Given the description of an element on the screen output the (x, y) to click on. 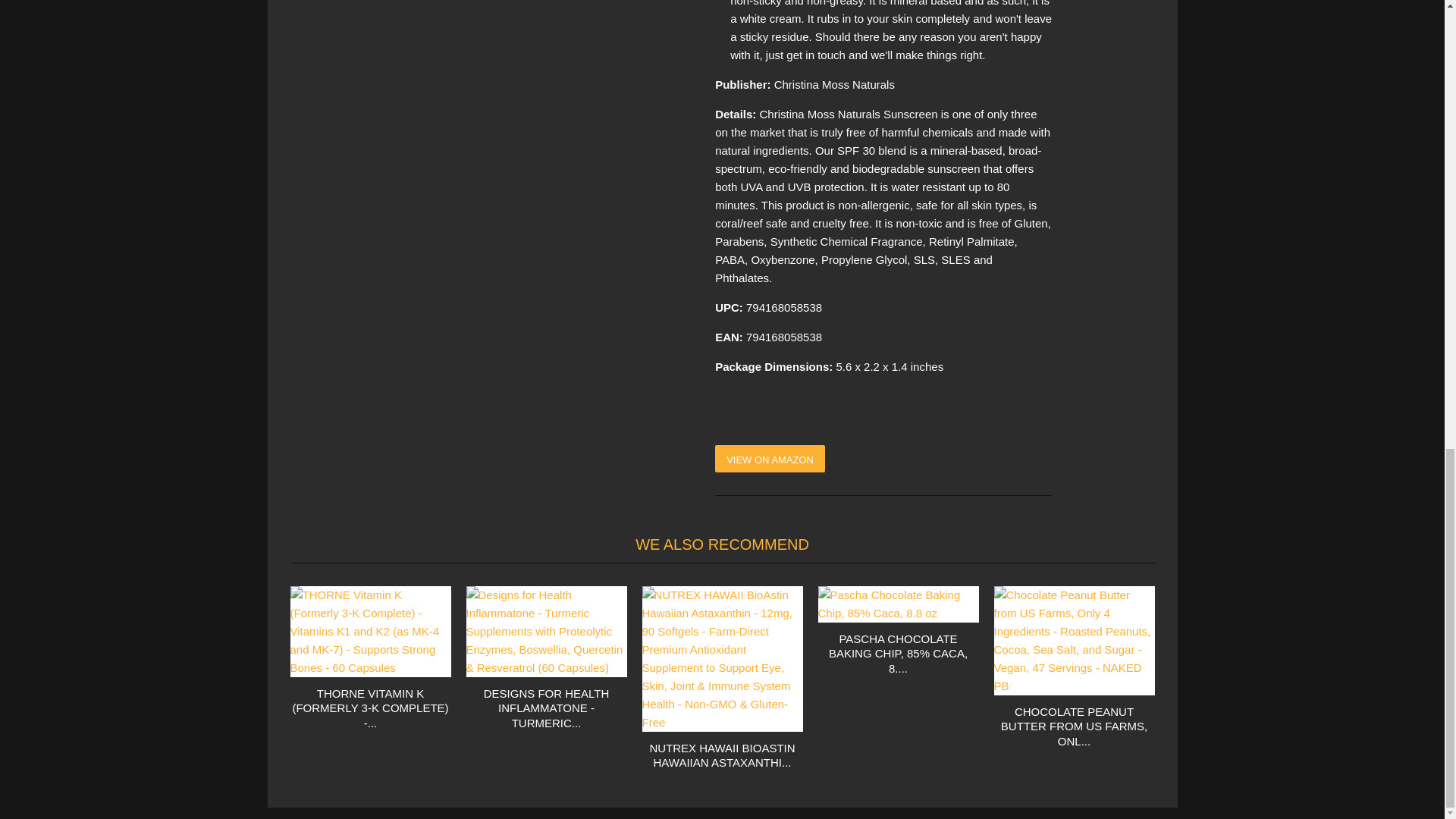
DESIGNS FOR HEALTH INFLAMMATONE - TURMERIC... (546, 708)
VIEW ON AMAZON (769, 458)
NUTREX HAWAII BIOASTIN HAWAIIAN ASTAXANTHI... (721, 755)
CHOCOLATE PEANUT BUTTER FROM US FARMS, ONL... (1074, 726)
